Given the description of an element on the screen output the (x, y) to click on. 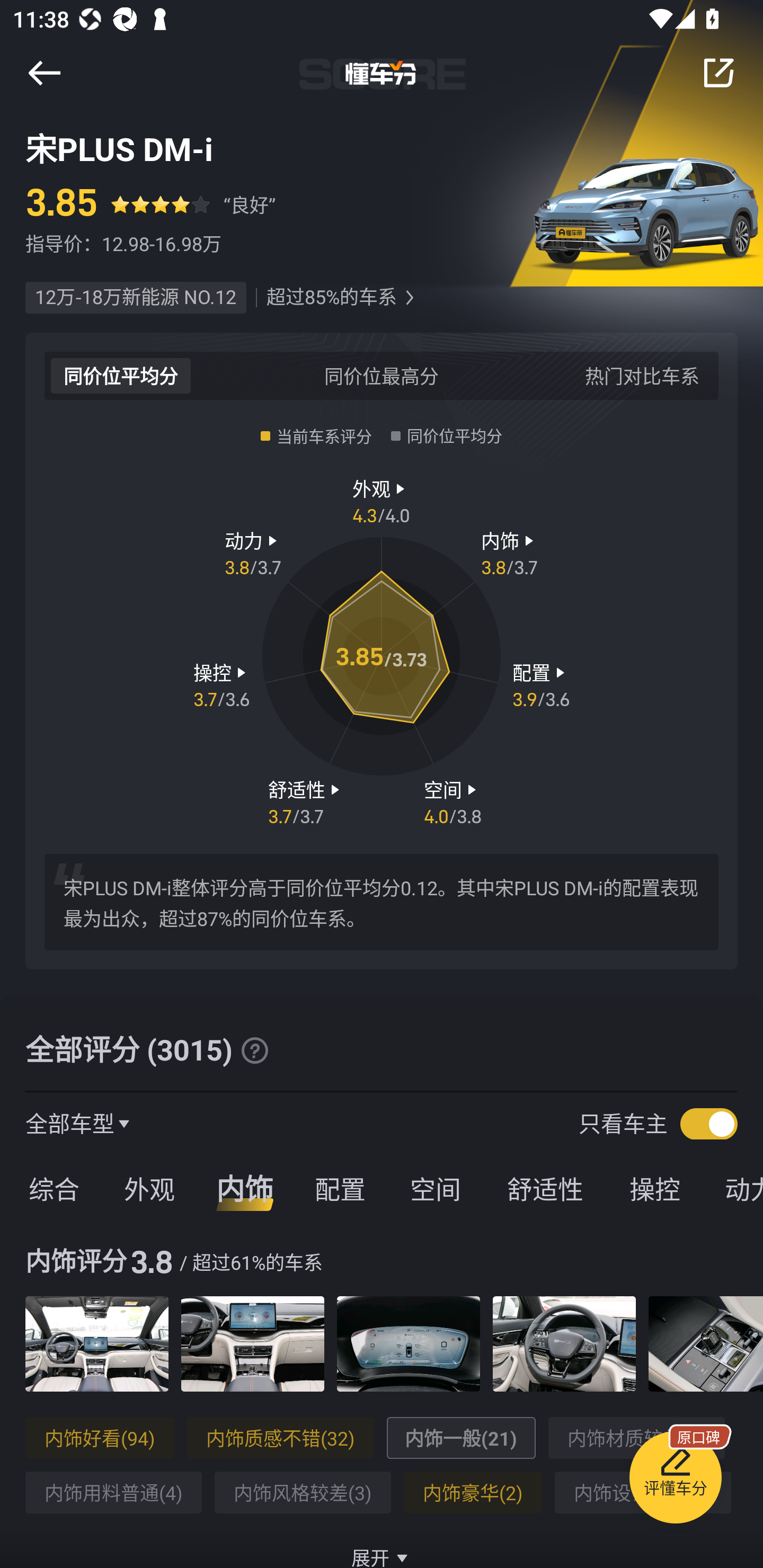
 (44, 72)
 (718, 72)
超过85%的车系 (331, 297)
 (408, 297)
同价位平均分 (120, 375)
同价位最高分 (381, 375)
热门对比车系 (641, 375)
外观  4.3 / 4.0 (381, 500)
动力  3.8 / 3.7 (252, 552)
内饰  3.8 / 3.7 (509, 552)
操控  3.7 / 3.6 (221, 685)
配置  3.9 / 3.6 (540, 685)
舒适性  3.7 / 3.7 (305, 801)
空间  4.0 / 3.8 (452, 801)
 (254, 1050)
全部车型 (69, 1123)
综合 (50, 1188)
外观 (148, 1188)
配置 (339, 1188)
空间 (434, 1188)
舒适性 (544, 1188)
操控 (654, 1188)
内饰好看(94) (99, 1437)
内饰质感不错(32) (279, 1437)
内饰一般(21) (460, 1437)
 评懂车分 原口碑 (675, 1480)
内饰用料普通(4) (113, 1492)
内饰风格较差(3) (302, 1492)
内饰豪华(2) (472, 1492)
展开  (381, 1546)
